Given the description of an element on the screen output the (x, y) to click on. 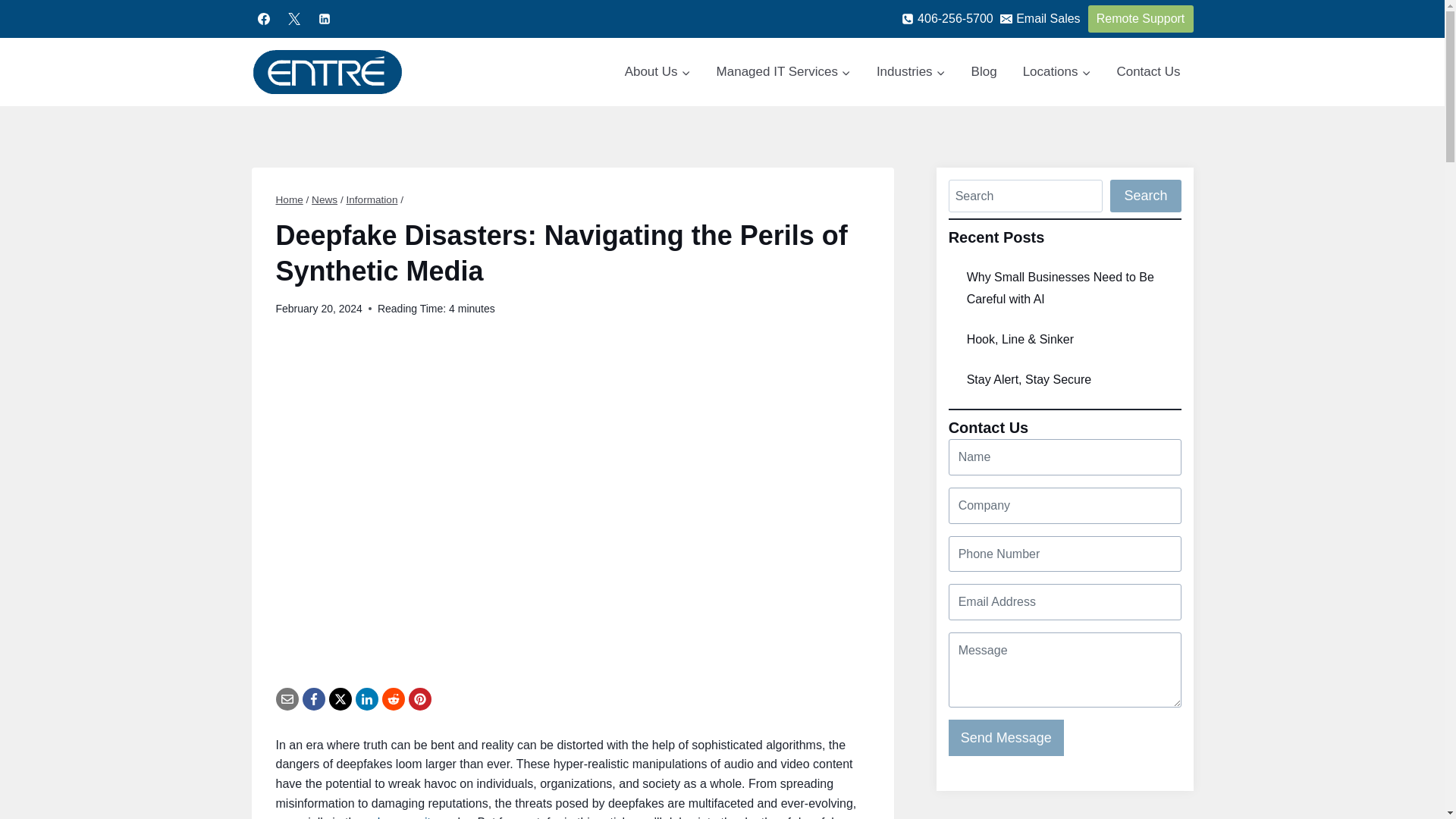
About Us (657, 72)
Remote Support (1140, 17)
406-256-5700 (946, 18)
Blog (984, 72)
Locations (1056, 72)
Email Sales (1040, 18)
Industries (910, 72)
Managed IT Services (783, 72)
